Given the description of an element on the screen output the (x, y) to click on. 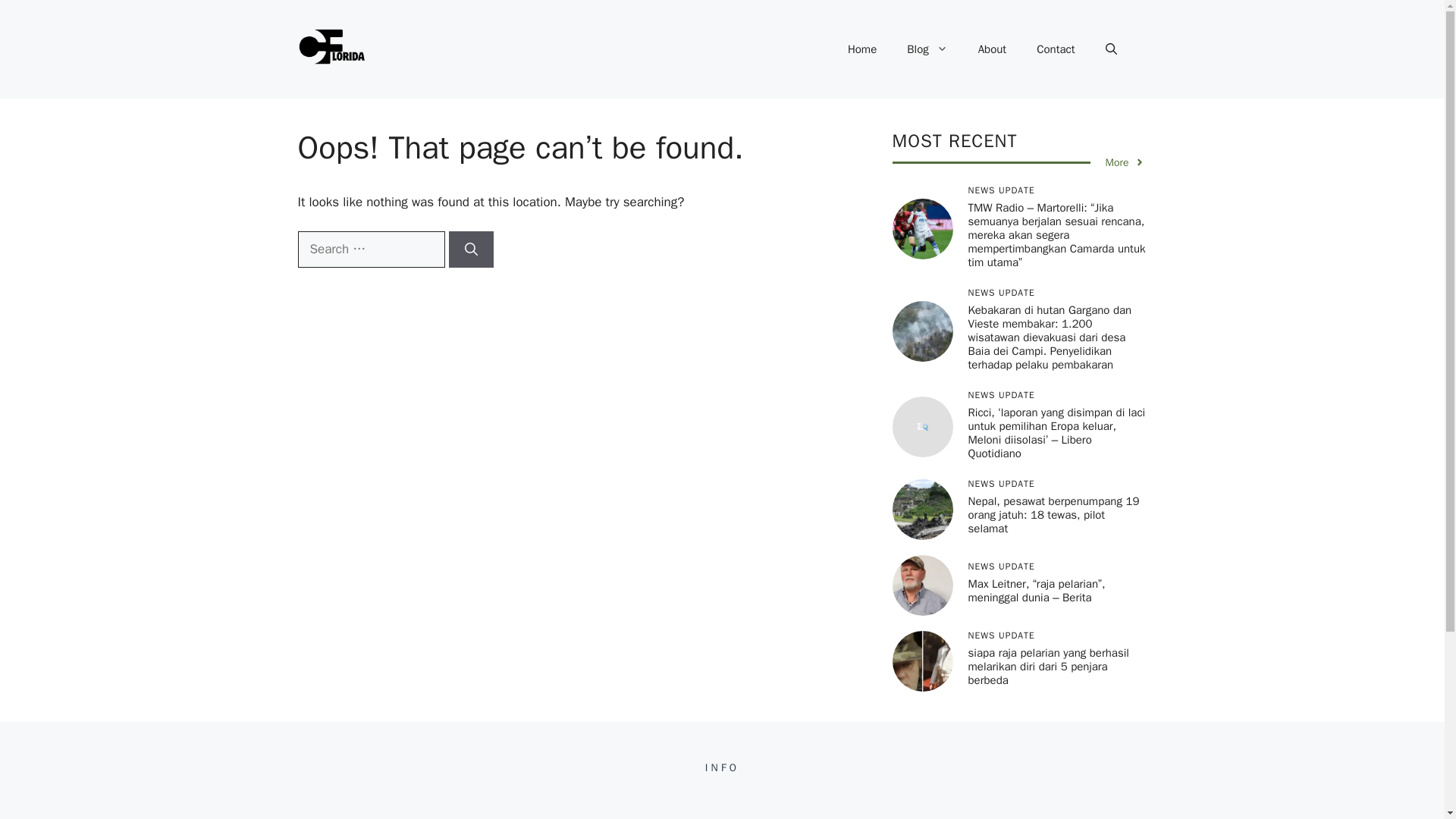
Search for: (370, 248)
Home (861, 49)
About (992, 49)
Contact (1055, 49)
Blog (926, 49)
More (1124, 162)
